Given the description of an element on the screen output the (x, y) to click on. 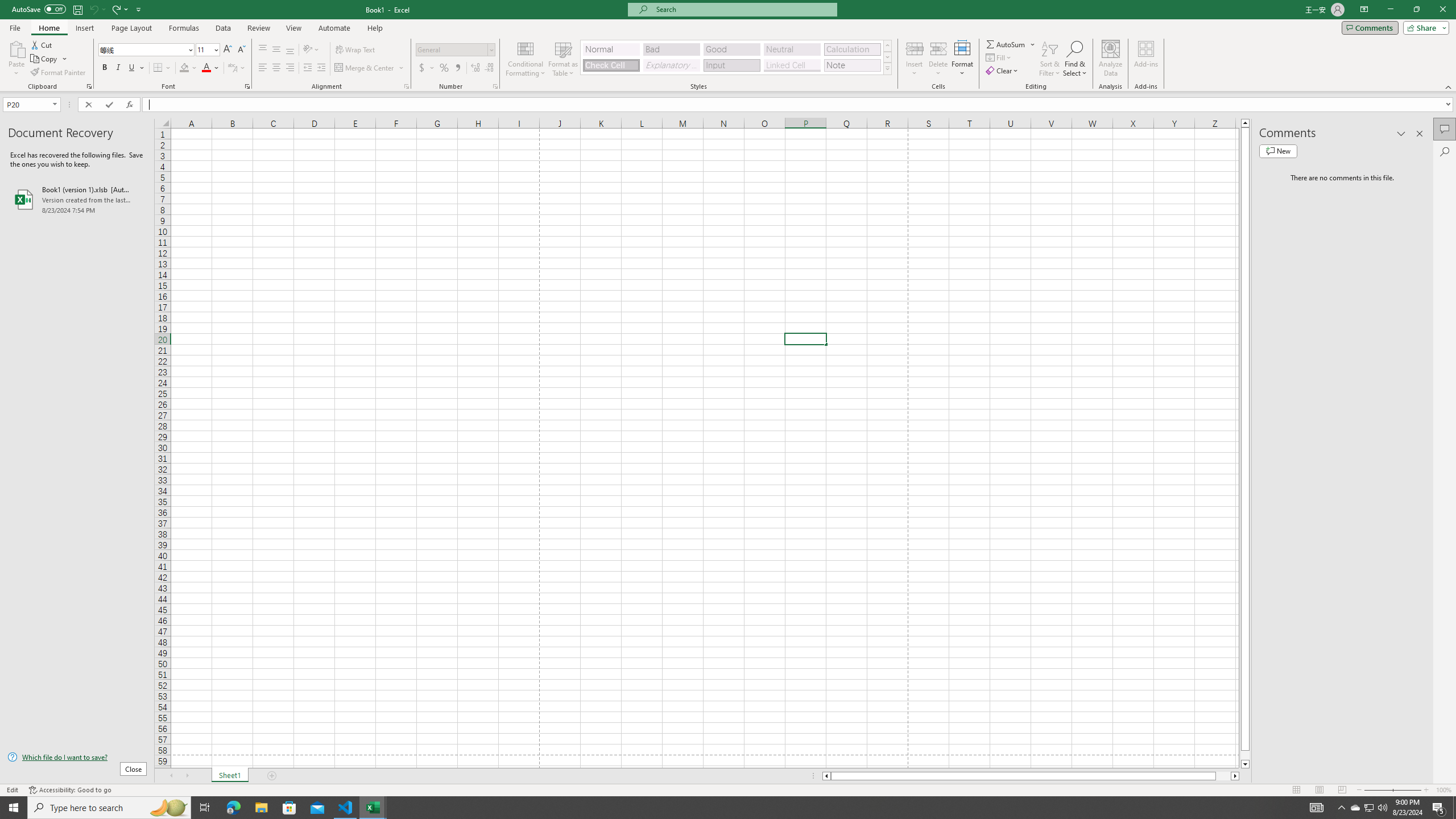
Font Color RGB(255, 0, 0) (206, 67)
Decrease Decimal (489, 67)
Format Cell Font (247, 85)
Format Cell Number (494, 85)
Format as Table (563, 58)
